Given the description of an element on the screen output the (x, y) to click on. 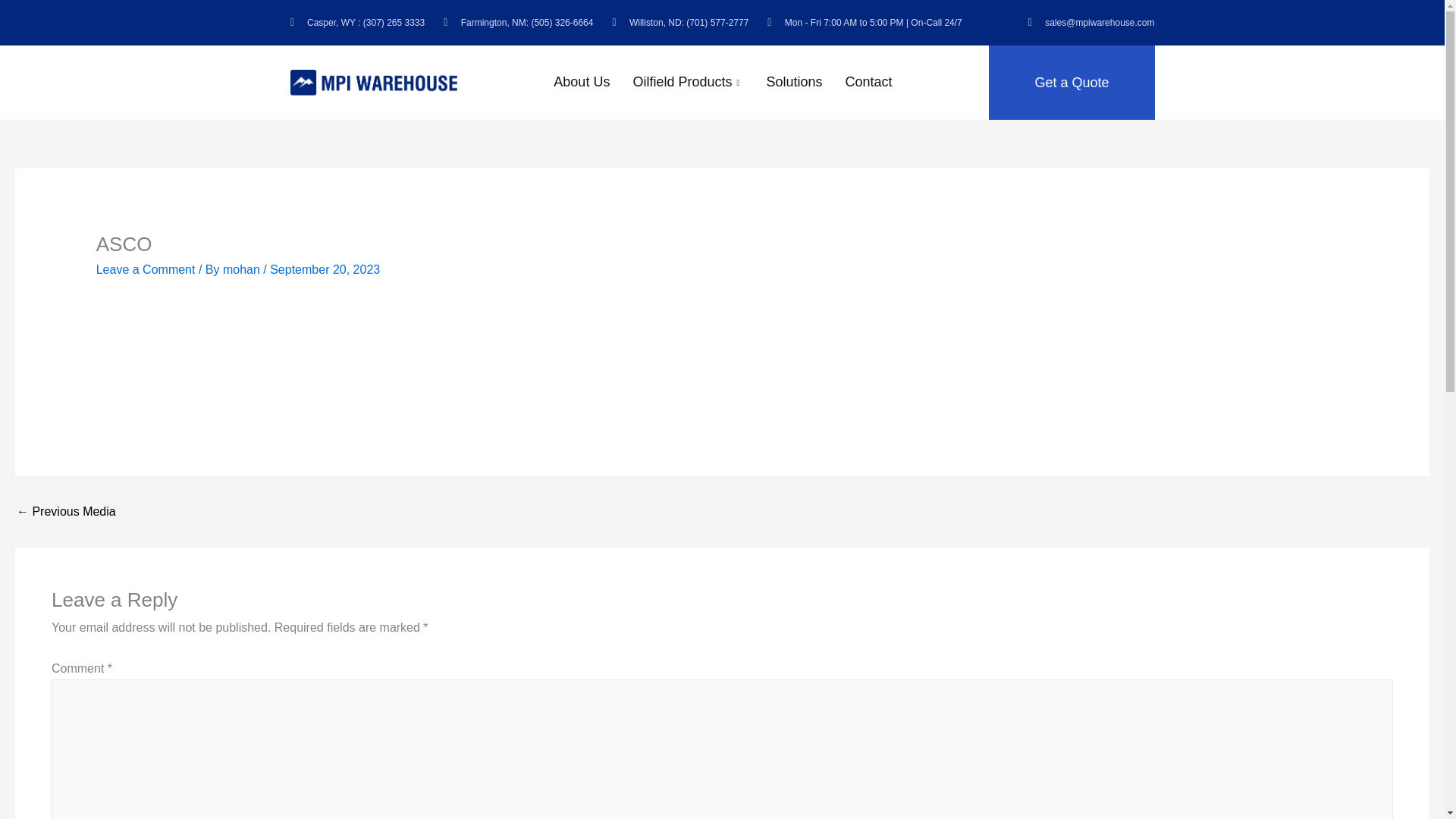
View all posts by mohan (242, 269)
ASCO (66, 511)
Oilfield Products (687, 82)
About Us (581, 82)
